Given the description of an element on the screen output the (x, y) to click on. 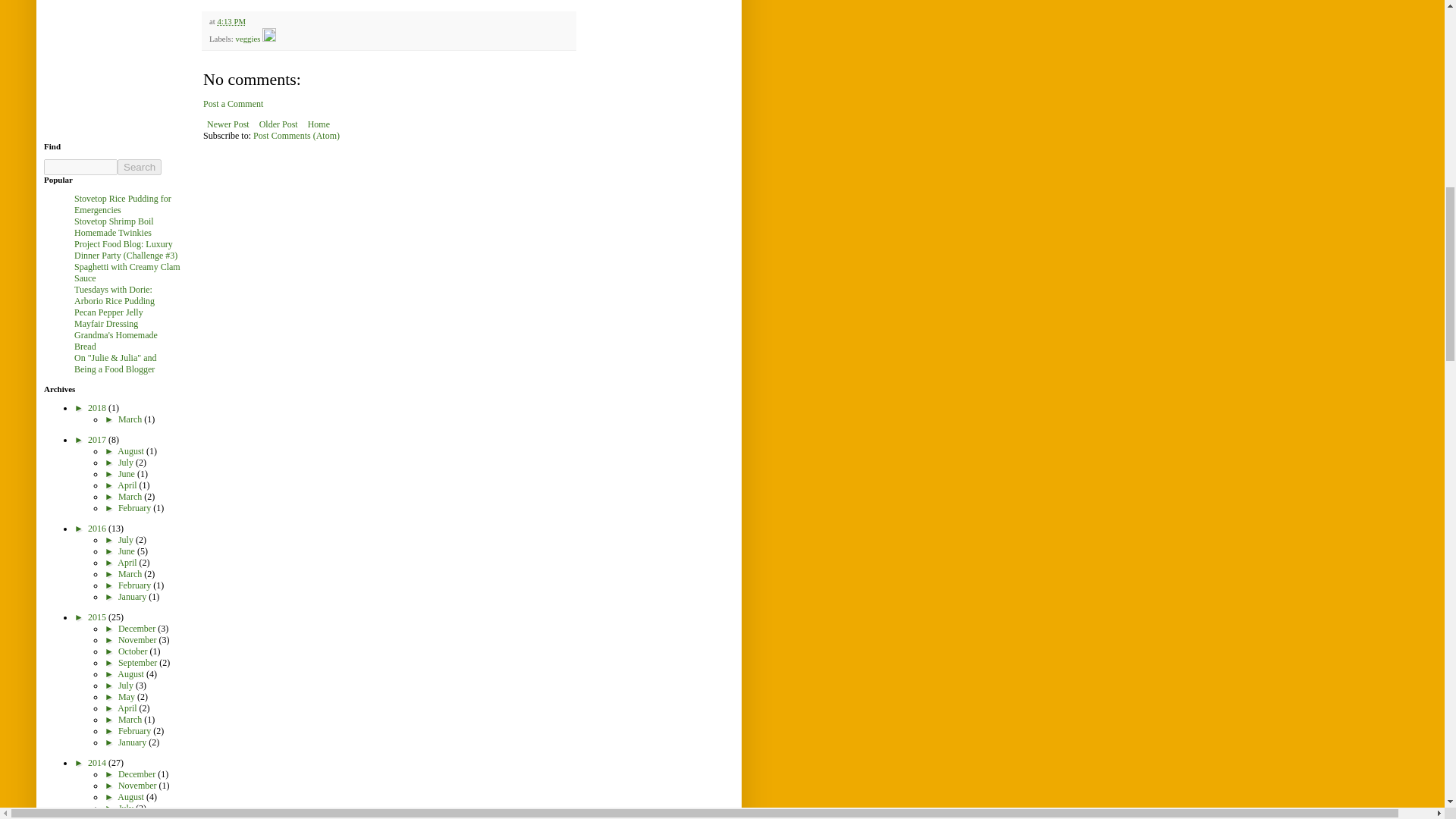
search (139, 166)
June (126, 473)
Grandma's Homemade Bread (115, 341)
Older Post (278, 124)
2018 (97, 407)
4:13 PM (231, 20)
Spaghetti with Creamy Clam Sauce (127, 272)
Edit Post (269, 38)
Pecan Pepper Jelly (108, 312)
Post a Comment (233, 103)
